Given the description of an element on the screen output the (x, y) to click on. 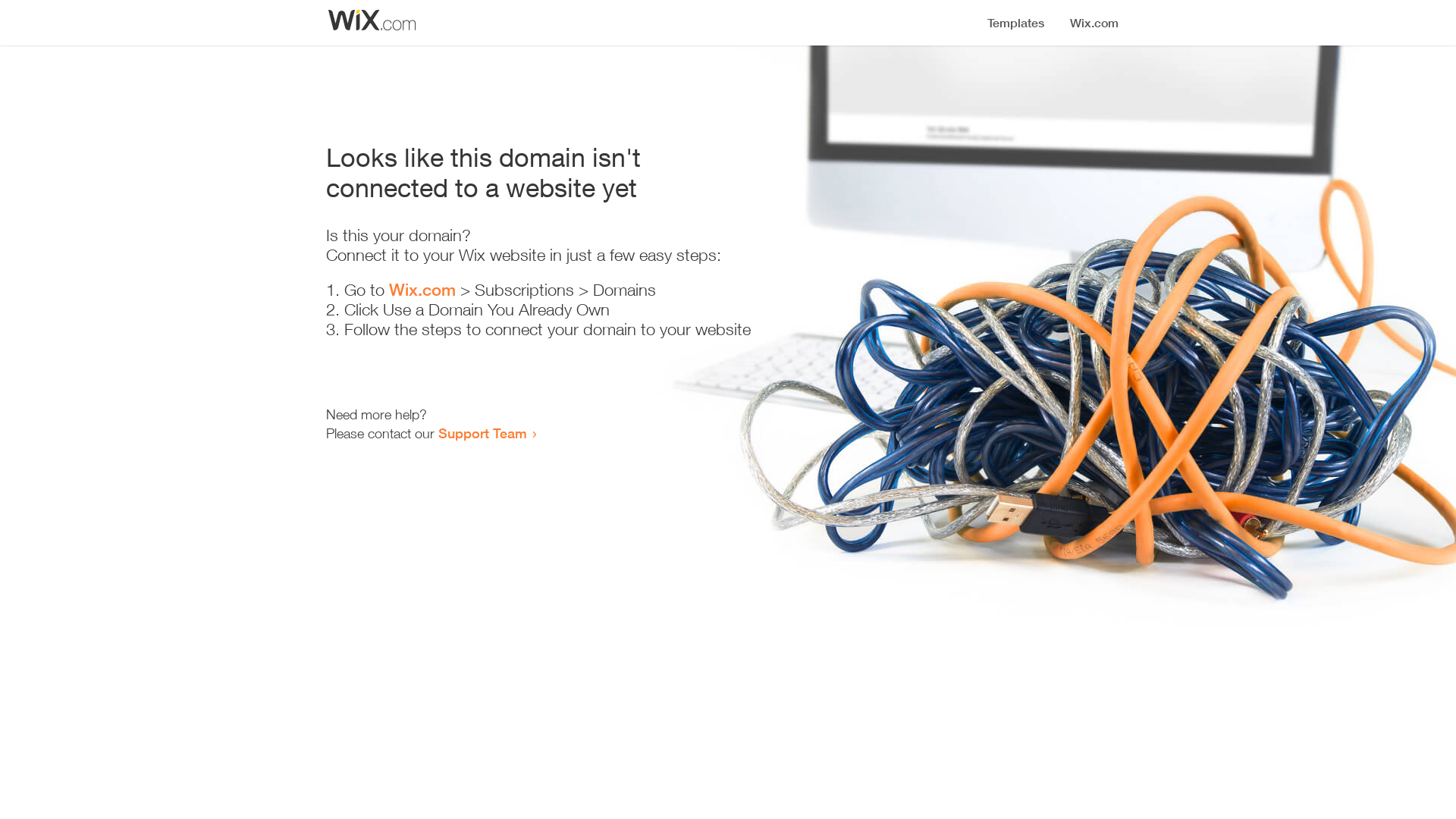
Wix.com Element type: text (422, 289)
Support Team Element type: text (482, 432)
